Given the description of an element on the screen output the (x, y) to click on. 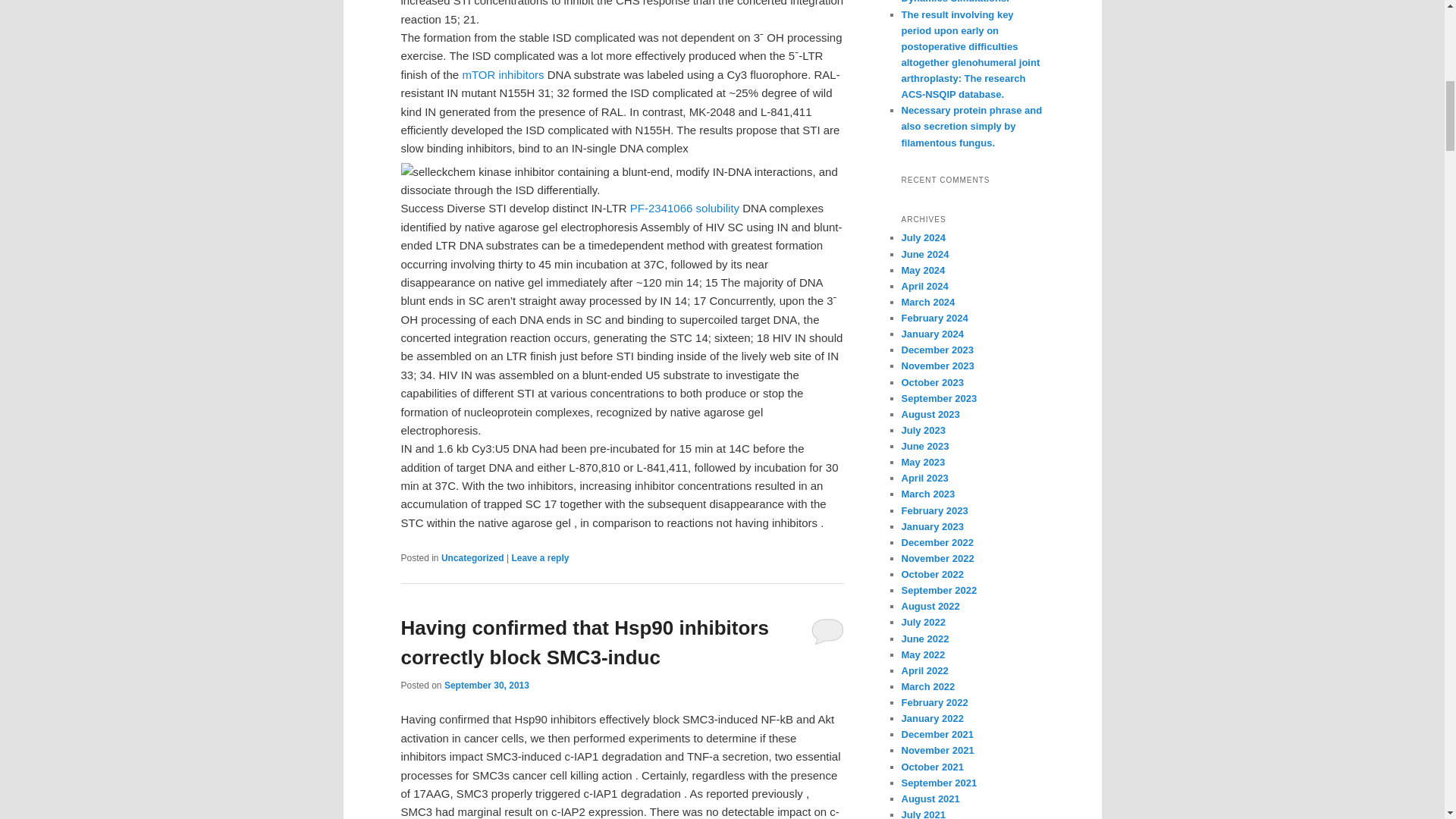
View all posts in Uncategorized (472, 557)
PF-2341066 solubility (684, 207)
Leave a reply (540, 557)
Uncategorized (472, 557)
September 30, 2013 (486, 685)
mTOR inhibitors (502, 74)
2:50 am (486, 685)
